Given the description of an element on the screen output the (x, y) to click on. 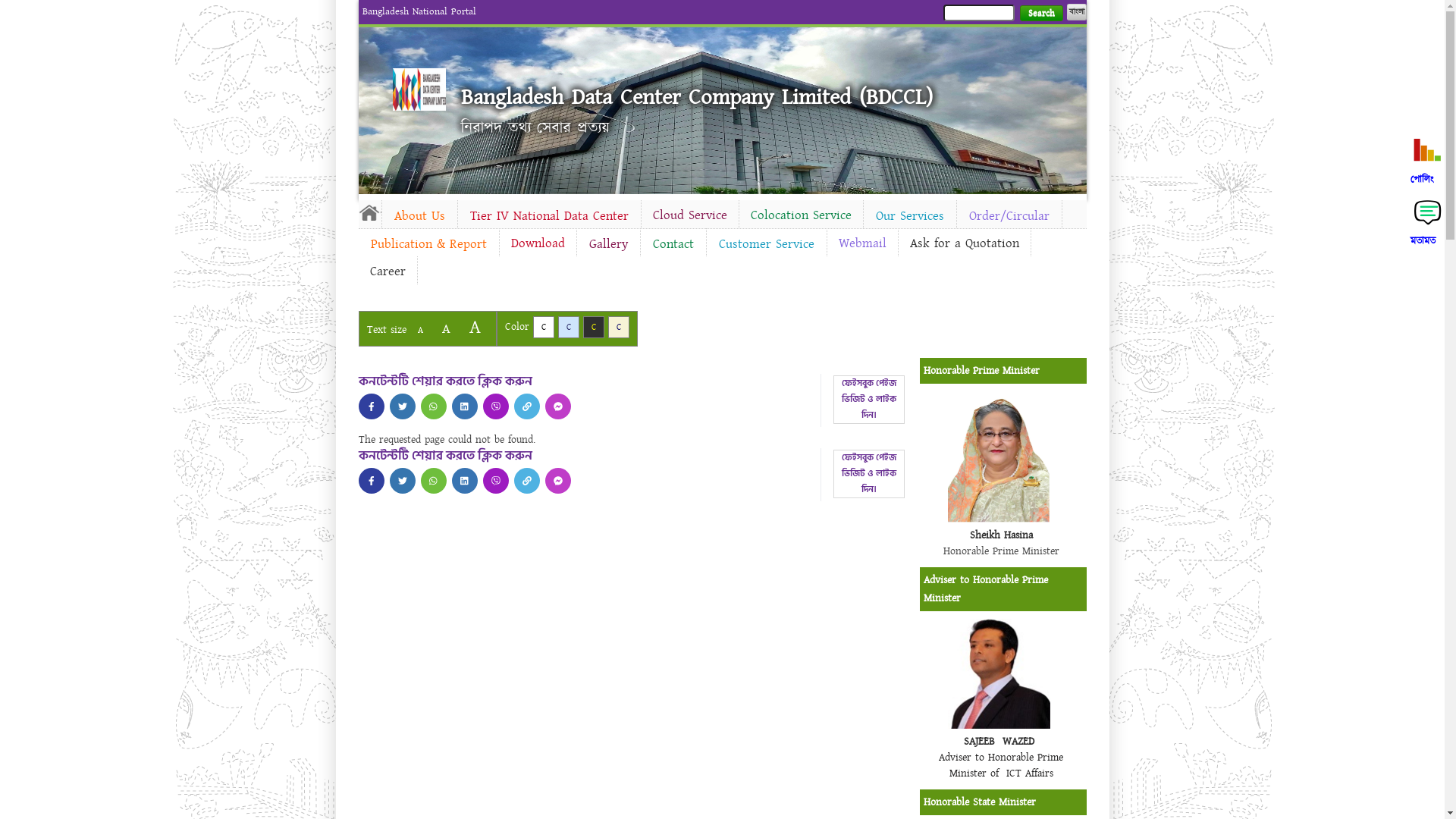
Contact Element type: text (672, 244)
A Element type: text (419, 330)
Customer Service Element type: text (766, 244)
C Element type: text (618, 327)
Home Element type: hover (368, 211)
Gallery Element type: text (607, 244)
Career Element type: text (386, 271)
Home Element type: hover (418, 89)
Colocation Service Element type: text (800, 215)
Tier IV National Data Center Element type: text (549, 216)
Webmail Element type: text (861, 243)
Search Element type: text (1040, 13)
About Us Element type: text (419, 216)
Download Element type: text (536, 243)
Bangladesh National Portal Element type: text (419, 11)
Publication & Report Element type: text (427, 244)
A Element type: text (474, 327)
C Element type: text (568, 327)
Our Services Element type: text (908, 216)
Order/Circular Element type: text (1009, 216)
A Element type: text (445, 328)
C Element type: text (542, 327)
Ask for a Quotation Element type: text (963, 243)
Cloud Service Element type: text (689, 215)
Bangladesh Data Center Company Limited (BDCCL) Element type: text (696, 96)
C Element type: text (592, 327)
